Given the description of an element on the screen output the (x, y) to click on. 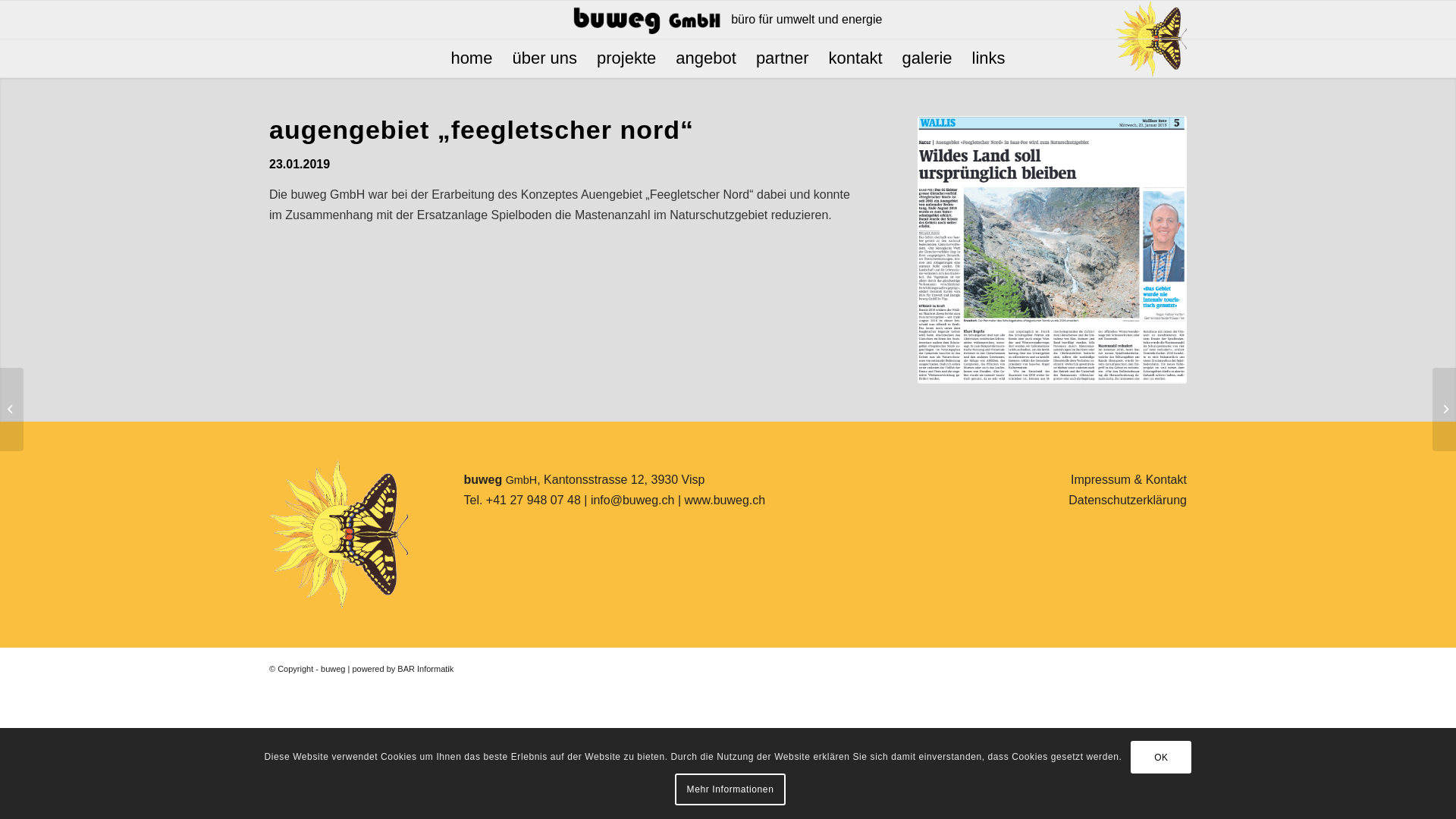
BAR Informatik Element type: text (425, 668)
logo-additional Element type: hover (338, 534)
partner Element type: text (782, 58)
wb-artikel23.01.2019 Element type: hover (1051, 249)
projekte Element type: text (625, 58)
angebot Element type: text (705, 58)
+41 27 948 07 48 Element type: text (533, 499)
info@buweg.ch Element type: text (632, 499)
Mehr Informationen Element type: text (729, 789)
OK Element type: text (1160, 757)
galerie Element type: text (927, 58)
Impressum & Kontakt Element type: text (1128, 479)
links Element type: text (988, 58)
kontakt Element type: text (855, 58)
home Element type: text (471, 58)
